Given the description of an element on the screen output the (x, y) to click on. 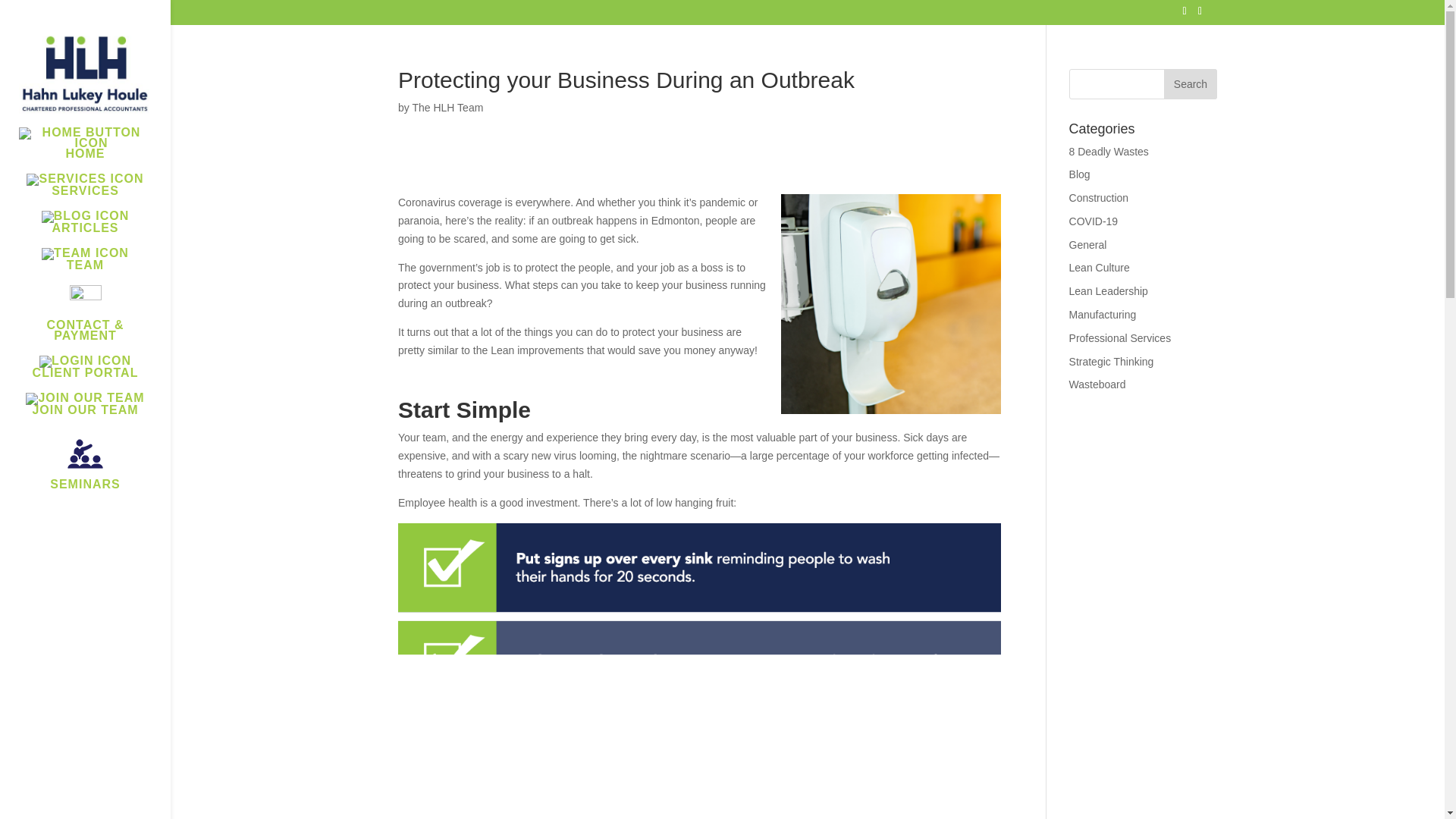
Lean Leadership (1108, 291)
Professional Services (1120, 337)
Construction (1098, 197)
Wasteboard (1096, 384)
Search (1190, 82)
CLIENT PORTAL (100, 374)
TEAM (100, 266)
General (1087, 244)
Manufacturing (1102, 314)
JOIN OUR TEAM (100, 411)
